Given the description of an element on the screen output the (x, y) to click on. 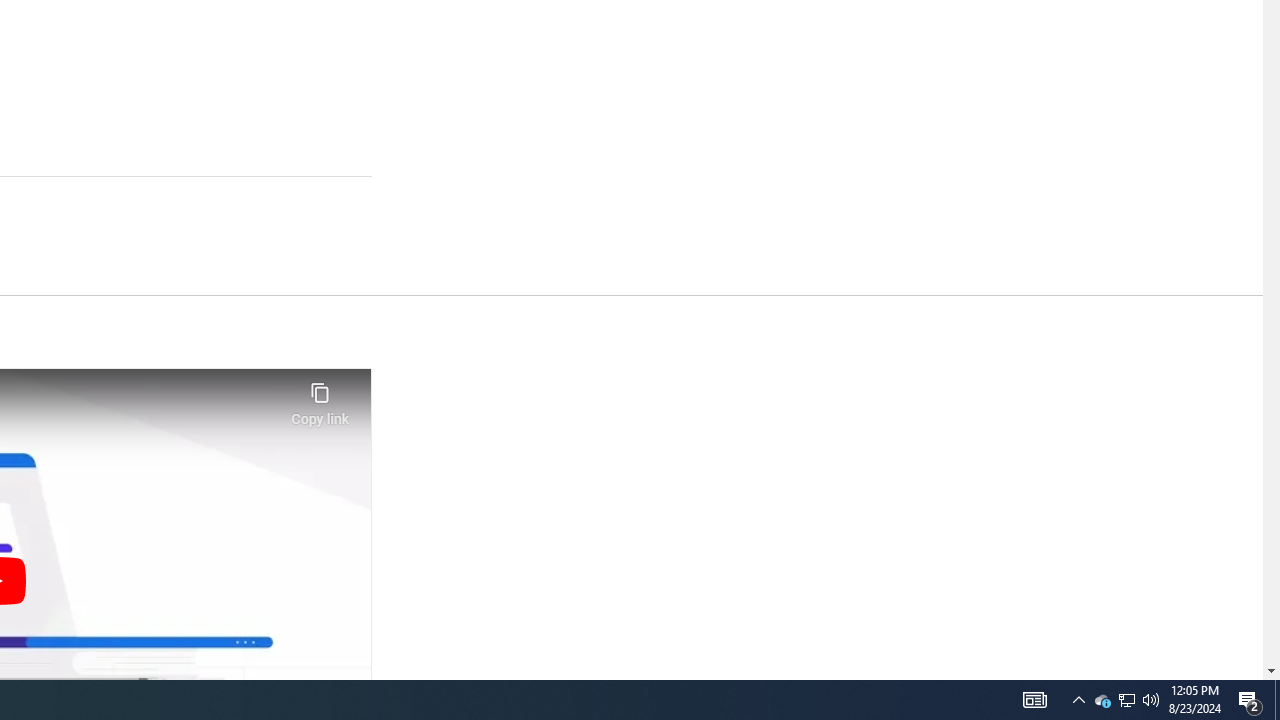
Copy link (319, 398)
